Given the description of an element on the screen output the (x, y) to click on. 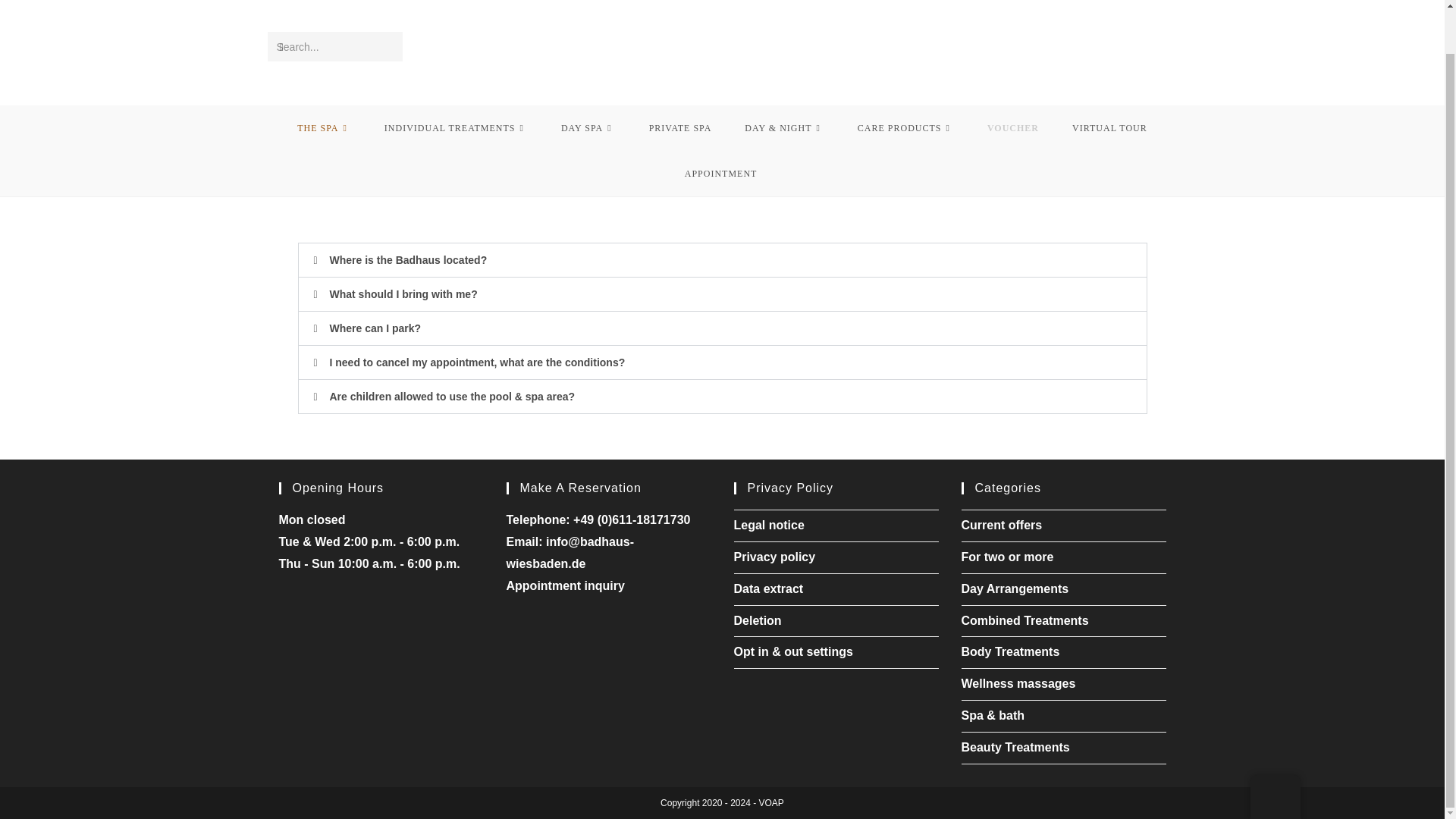
DAY SPA (587, 127)
VOUCHER (1013, 127)
VIRTUAL TOUR (1109, 127)
APPOINTMENT (721, 173)
INDIVIDUAL TREATMENTS (456, 127)
THE SPA (324, 127)
CARE PRODUCTS (906, 127)
English (1274, 751)
PRIVATE SPA (680, 127)
